Given the description of an element on the screen output the (x, y) to click on. 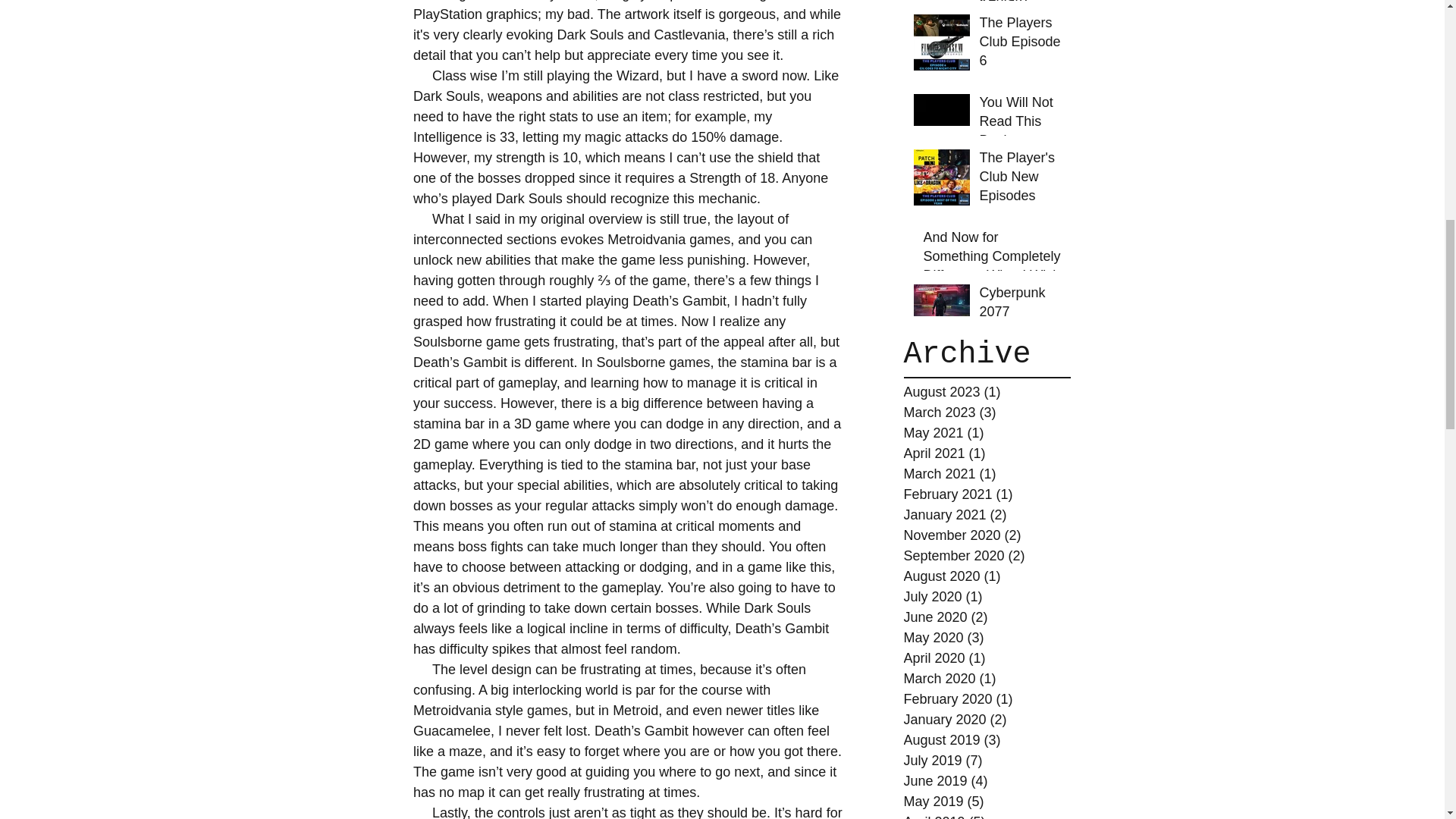
The Players Club Episode 6 (1020, 44)
The Death of a Master: Kentaro Miura-san 1966-2021 (1020, 27)
Cyberpunk 2077 (1020, 305)
The Player's Club New Episodes (1020, 180)
You Will Not Read This Book (1020, 124)
